Given the description of an element on the screen output the (x, y) to click on. 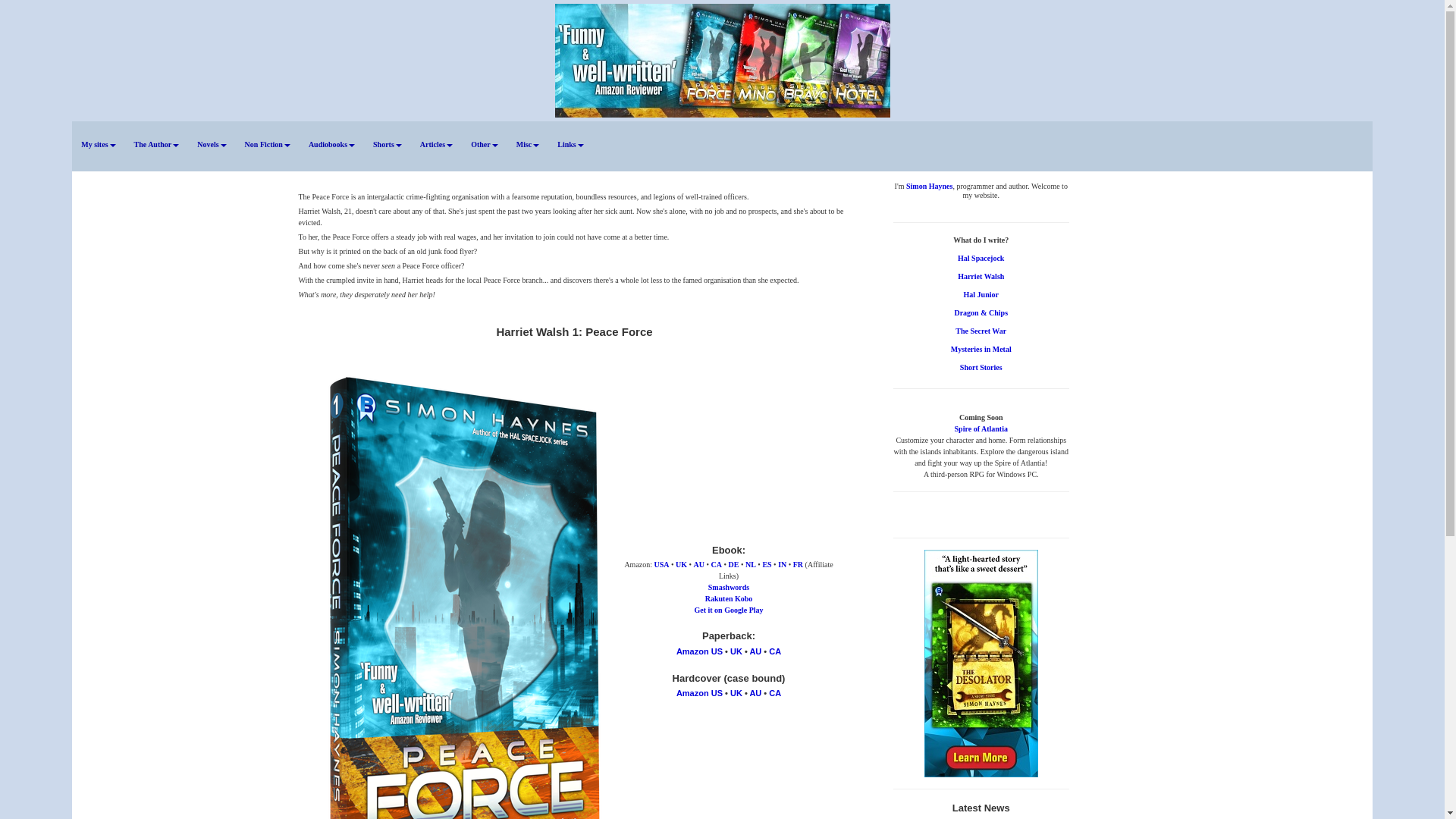
My sites (97, 144)
Shorts (387, 144)
Novels (210, 144)
Audiobooks (331, 144)
Non Fiction (267, 144)
Author (157, 144)
The Author (157, 144)
